Given the description of an element on the screen output the (x, y) to click on. 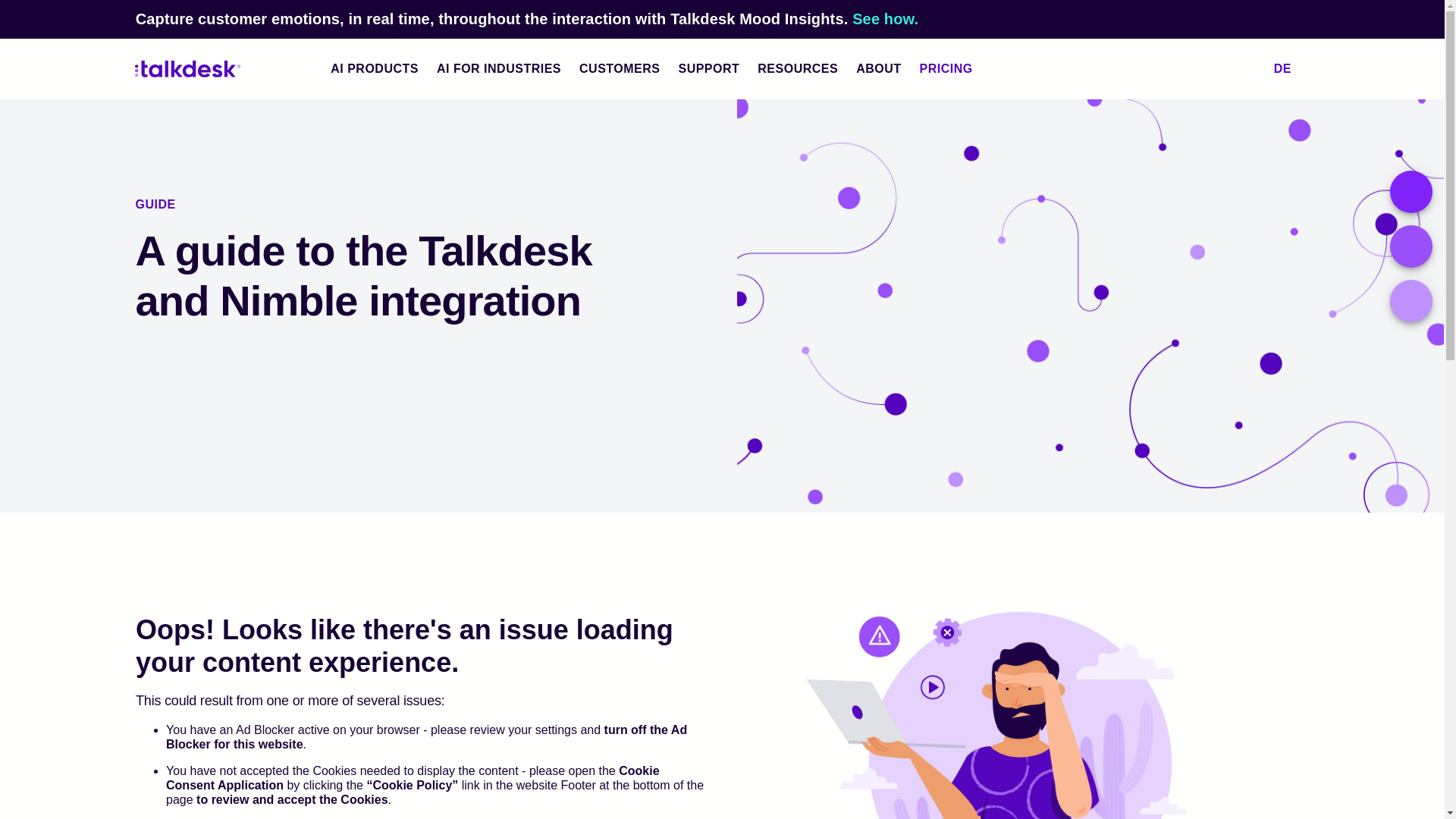
SUPPORT (708, 68)
DE (1291, 68)
RESOURCES (797, 68)
CUSTOMERS (619, 68)
AI FOR INDUSTRIES (498, 68)
Talkdesk Enterprise Platform Login page (1212, 68)
Suche (1247, 68)
PRICING (957, 68)
AI PRODUCTS (374, 68)
ABOUT (878, 68)
